Given the description of an element on the screen output the (x, y) to click on. 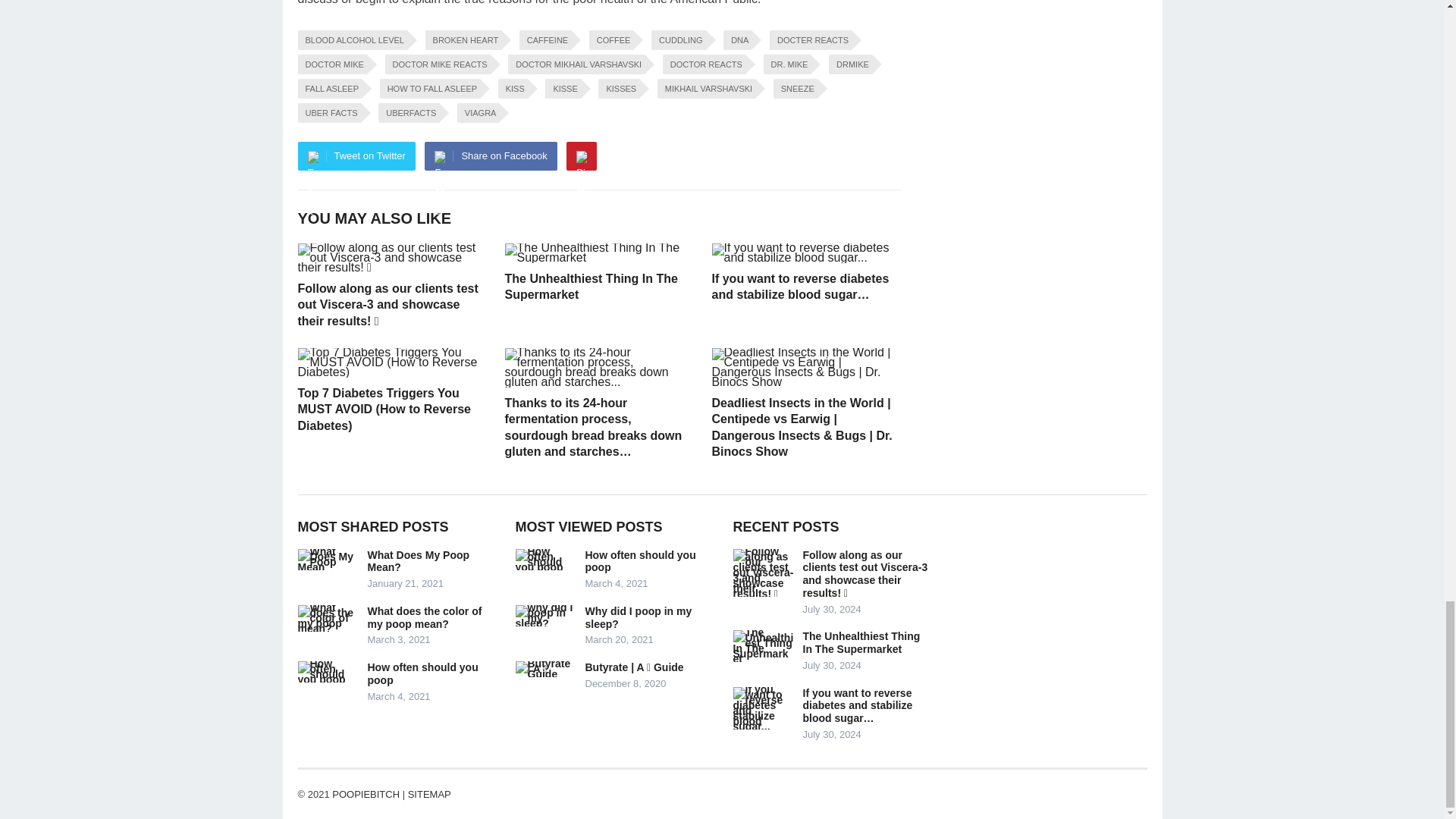
CUDDLING (677, 39)
COFFEE (611, 39)
The Unhealthiest Thing In The Supermarket 4 (599, 252)
DOCTER REACTS (810, 39)
CAFFEINE (544, 39)
DNA (737, 39)
DOCTOR MIKE (331, 64)
BLOOD ALCOHOL LEVEL (351, 39)
BROKEN HEART (463, 39)
